Given the description of an element on the screen output the (x, y) to click on. 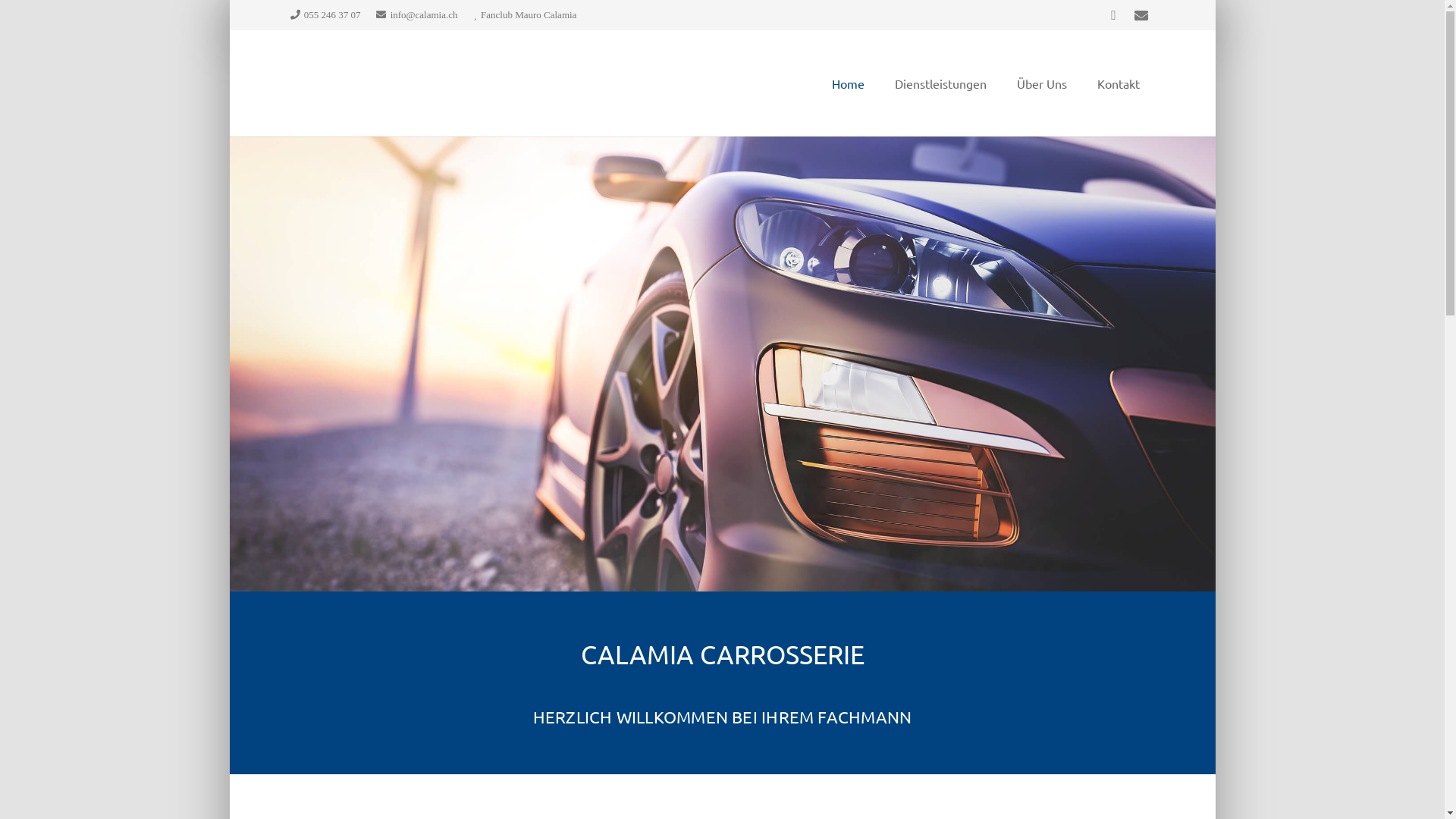
Home Element type: text (846, 83)
E-Mail Element type: hover (1140, 14)
Kontakt Element type: text (1117, 83)
Facebook Element type: hover (1112, 14)
Dienstleistungen Element type: text (940, 83)
